Given the description of an element on the screen output the (x, y) to click on. 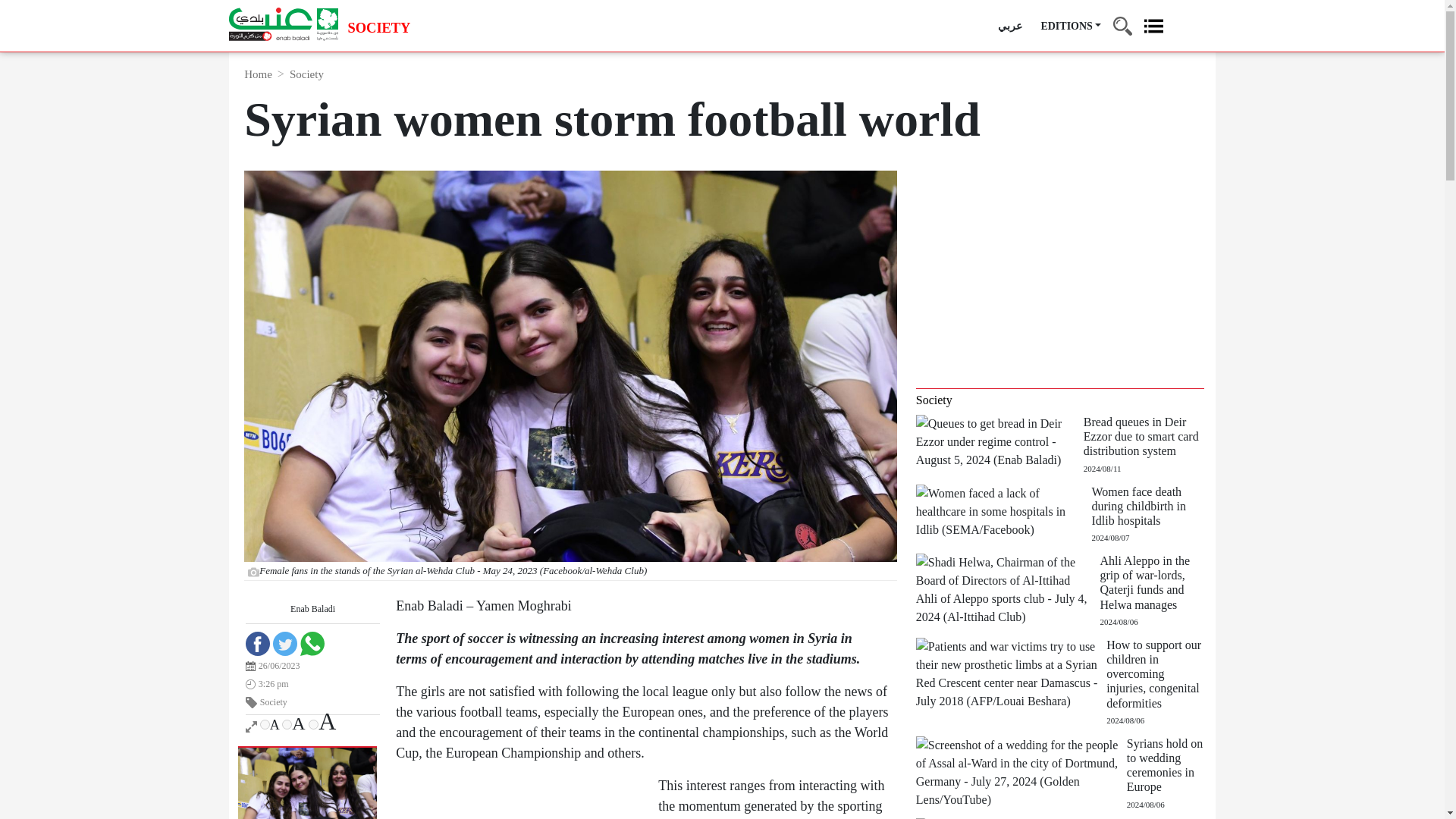
logo (282, 24)
SOCIETY (379, 28)
on (264, 724)
on (313, 724)
on (287, 724)
EDITIONS (1070, 25)
Women face death during childbirth in Idlib hospitals (1003, 509)
